Given the description of an element on the screen output the (x, y) to click on. 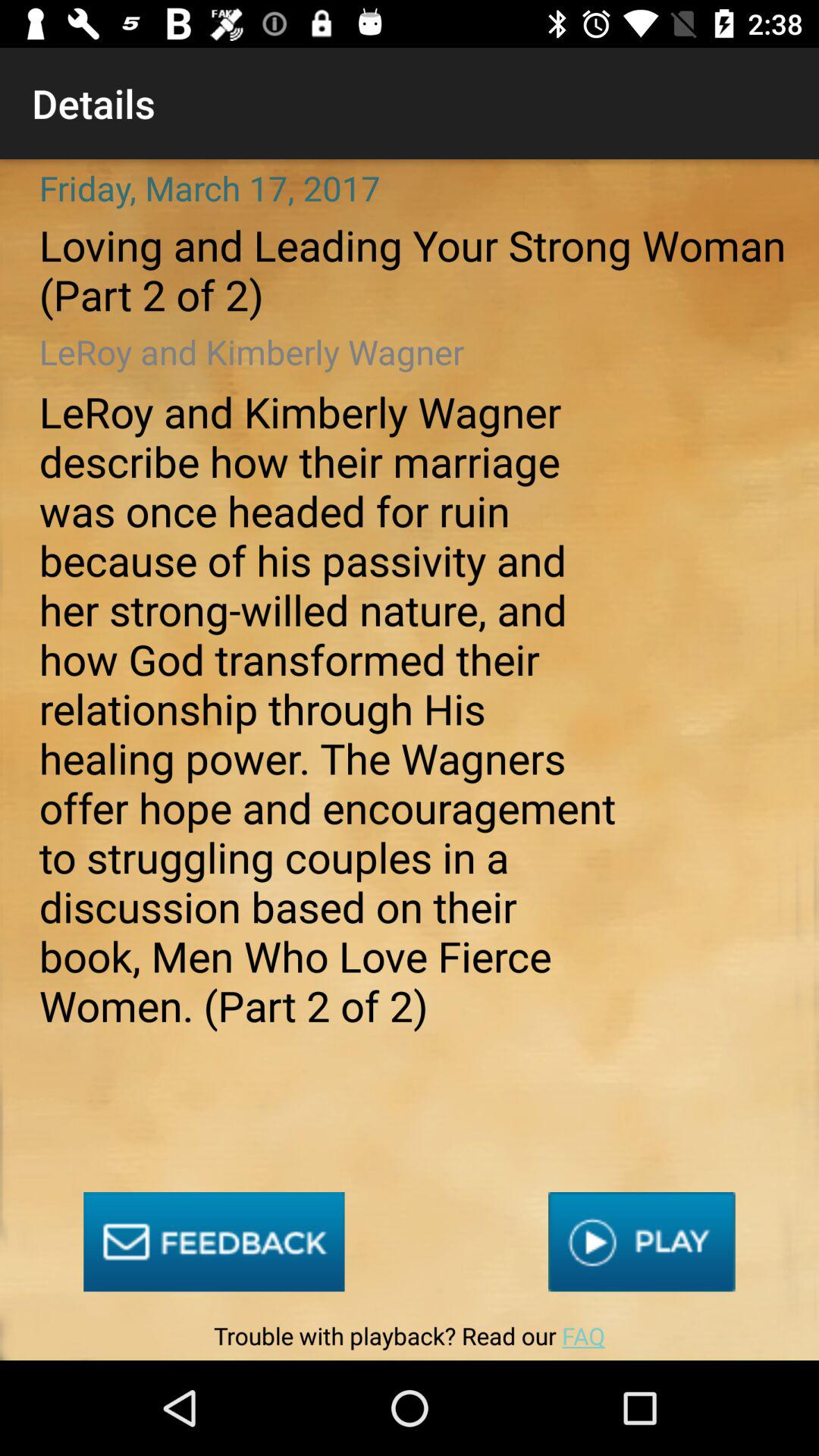
press the icon above trouble with playback icon (213, 1241)
